Given the description of an element on the screen output the (x, y) to click on. 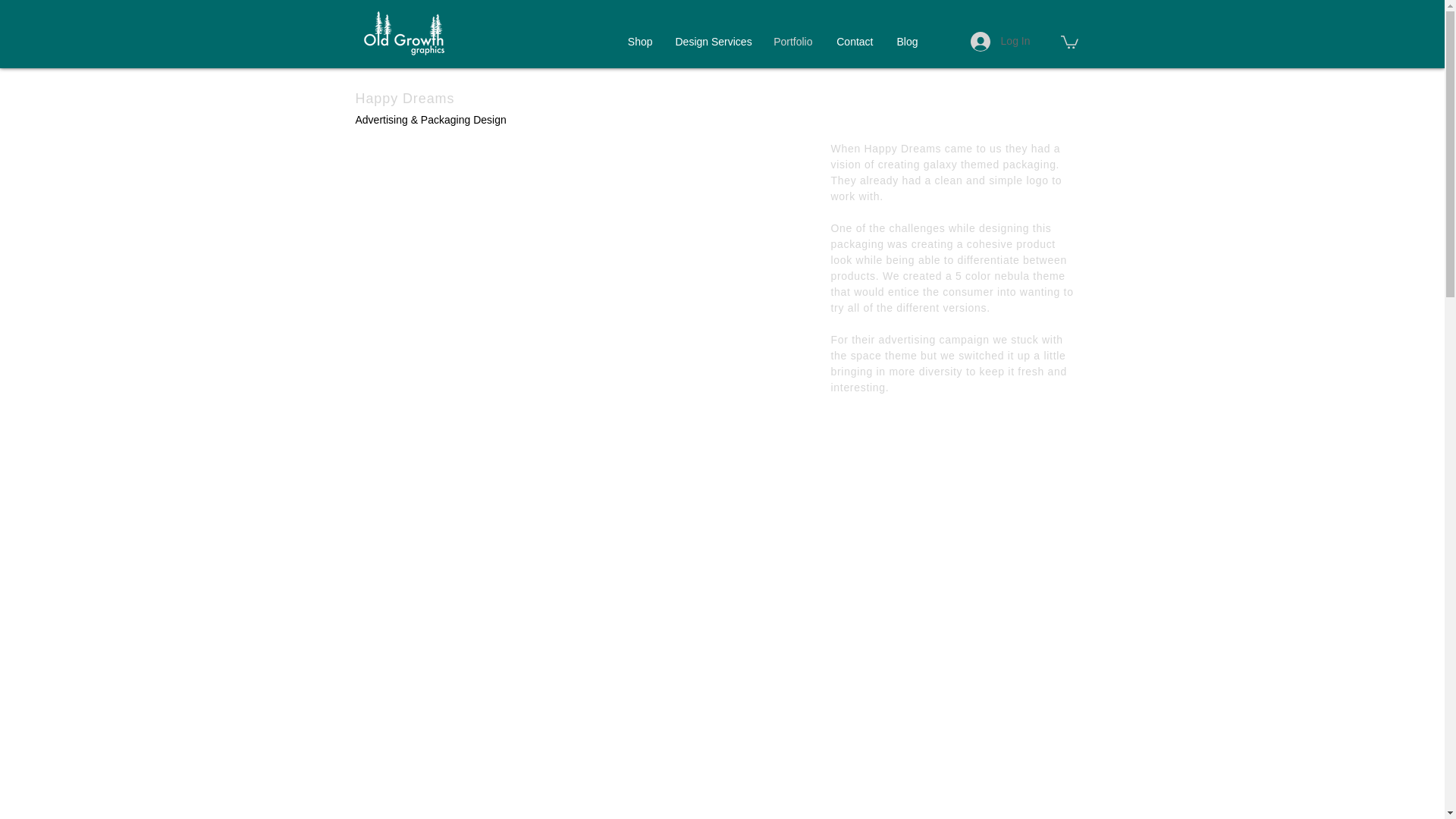
Blog (905, 41)
Contact (853, 41)
Design Services (712, 41)
Shop (639, 41)
Log In (1000, 41)
Portfolio (792, 41)
